Given the description of an element on the screen output the (x, y) to click on. 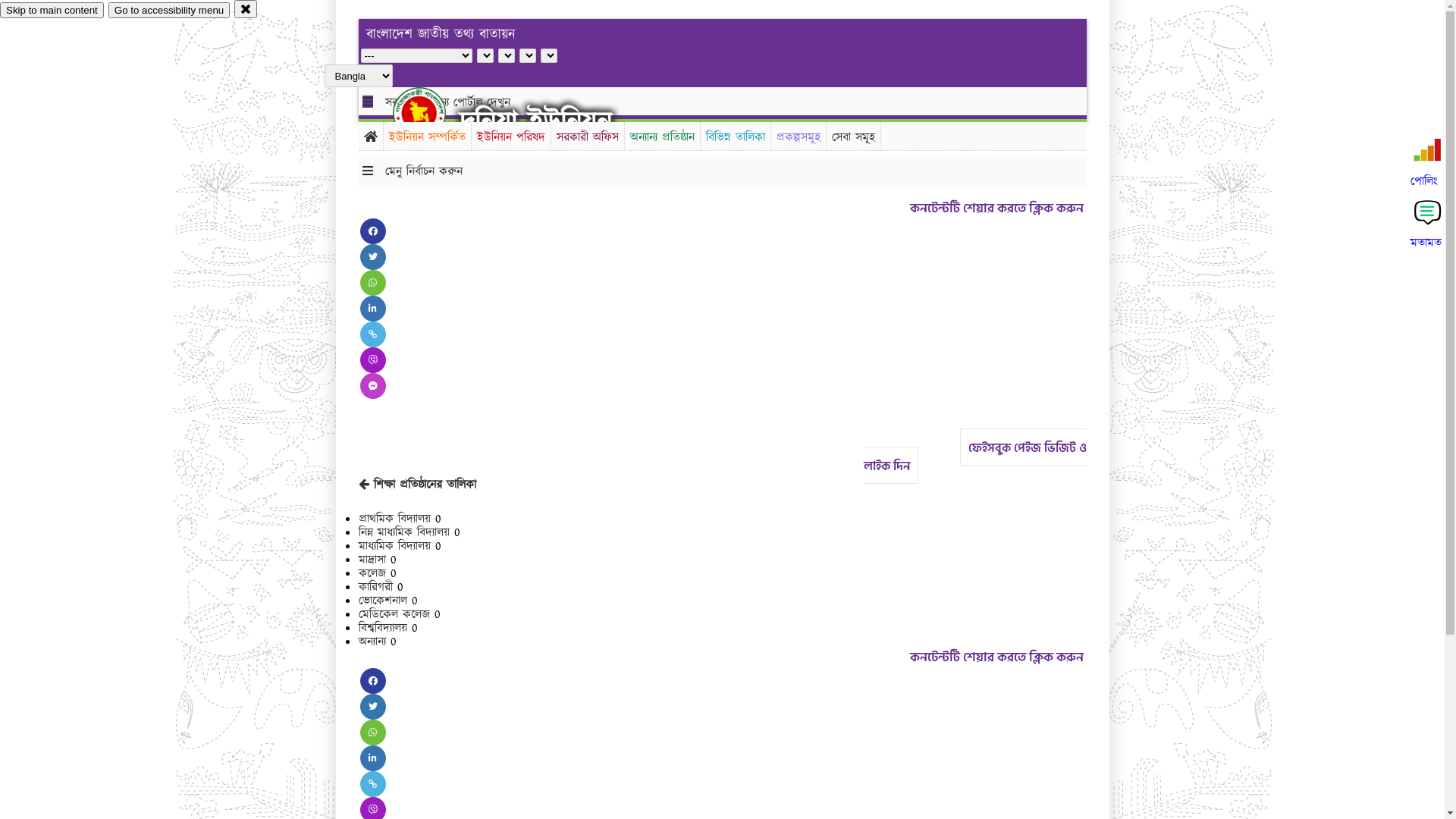

                
             Element type: hover (431, 112)
Go to accessibility menu Element type: text (168, 10)
Skip to main content Element type: text (51, 10)
close Element type: hover (245, 9)
